Given the description of an element on the screen output the (x, y) to click on. 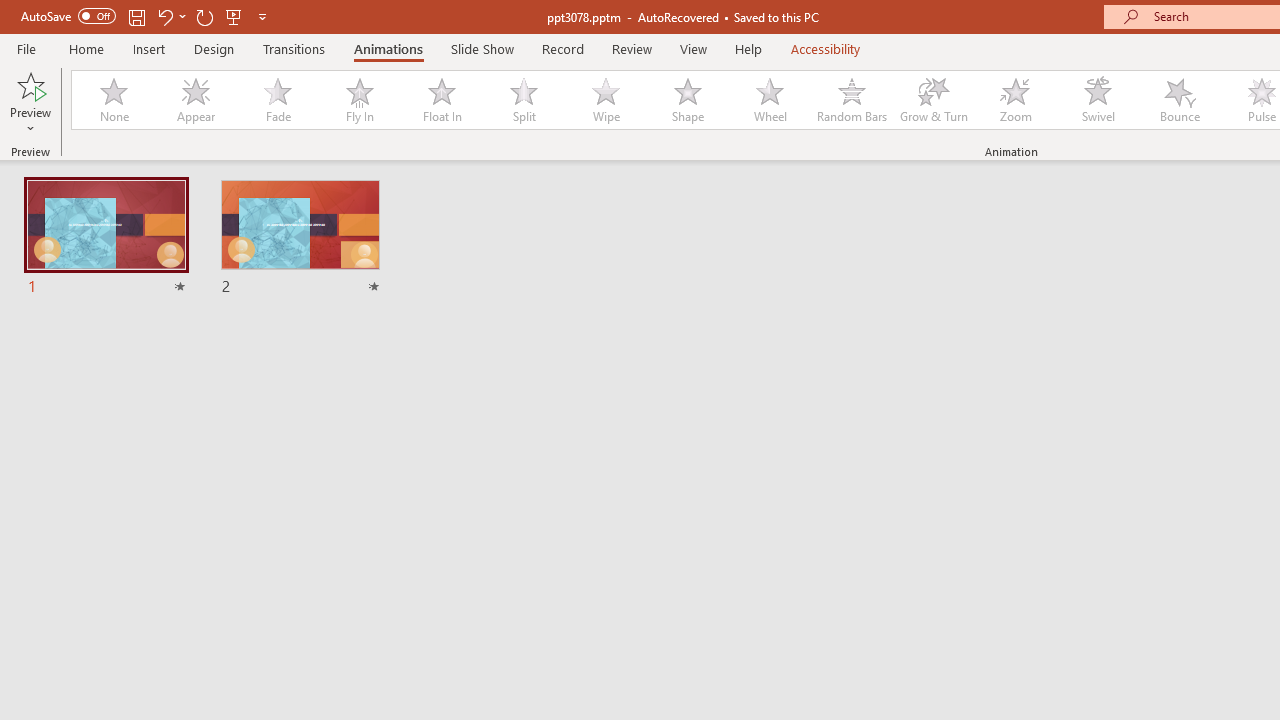
File Tab (26, 48)
Save (136, 15)
Slide (300, 238)
Split (523, 100)
View (693, 48)
AutoSave (68, 16)
None (113, 100)
Transitions (294, 48)
Record (562, 48)
Accessibility (825, 48)
Swivel (1098, 100)
Preview (30, 84)
Wipe (605, 100)
Redo (204, 15)
Design (214, 48)
